Given the description of an element on the screen output the (x, y) to click on. 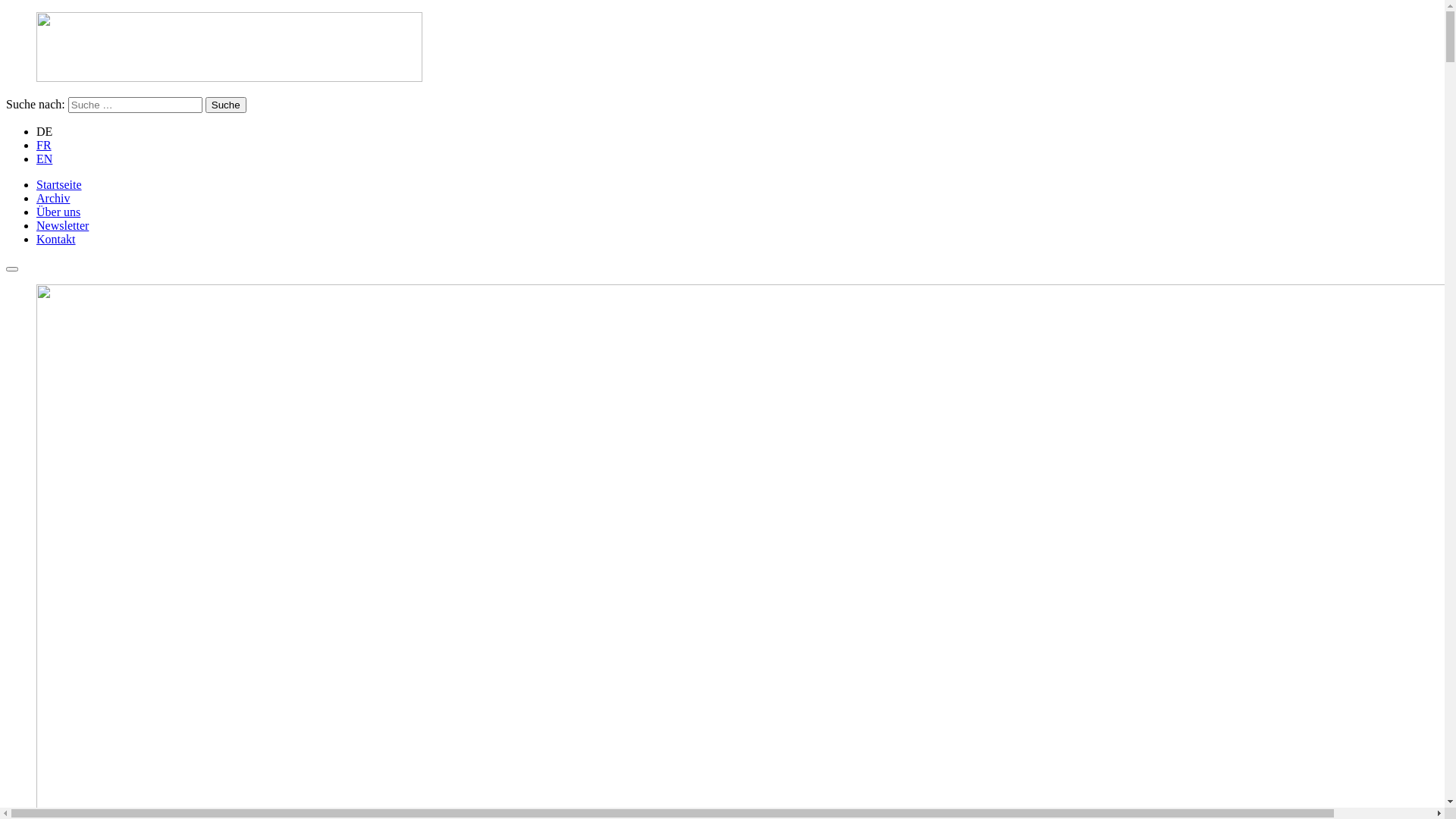
Suche Element type: text (225, 104)
Startseite Element type: text (58, 184)
FR Element type: text (43, 144)
Kontakt Element type: text (55, 238)
Newsletter Element type: text (62, 225)
Archiv Element type: text (52, 197)
EN Element type: text (44, 158)
